Given the description of an element on the screen output the (x, y) to click on. 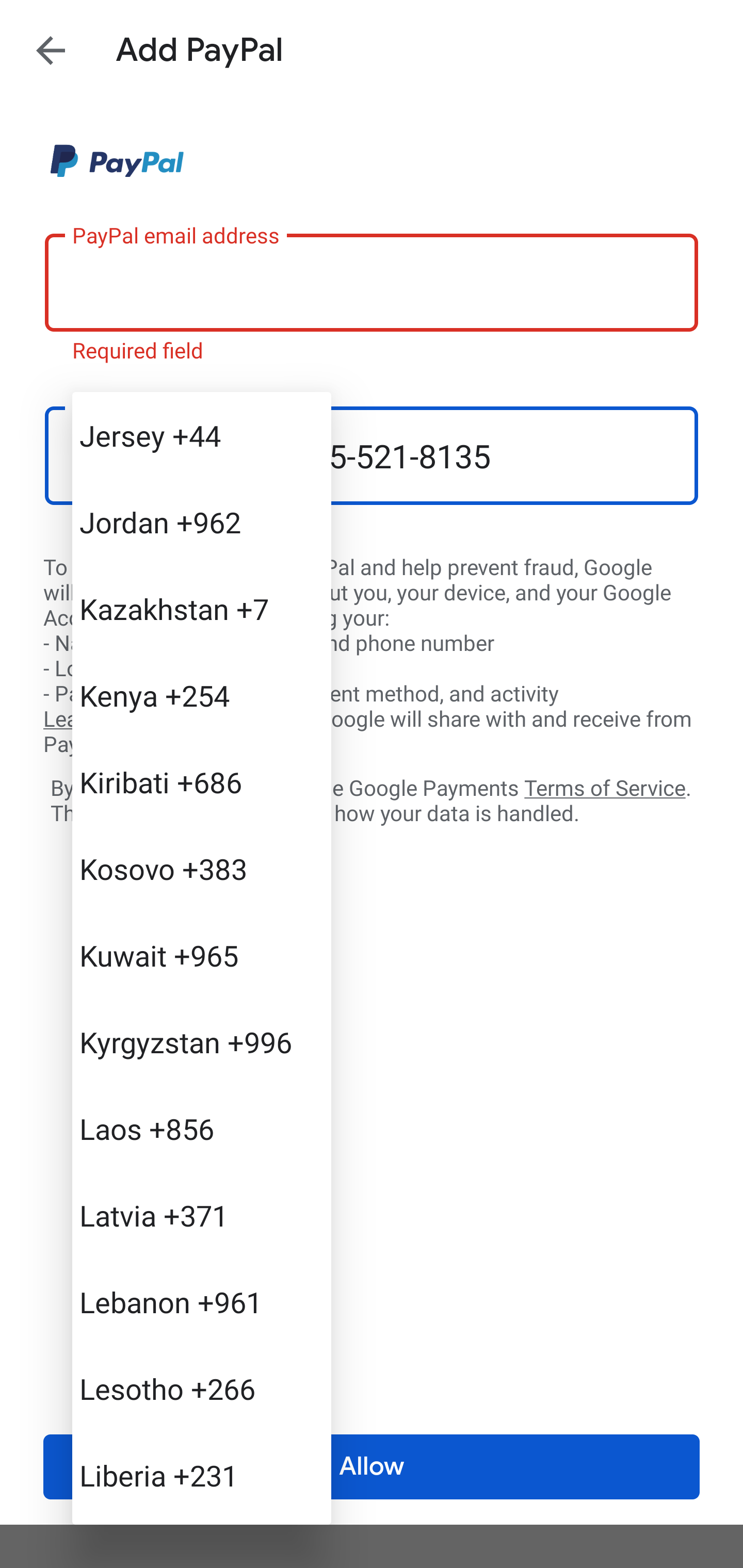
Jersey +44 (201, 435)
Jordan +962 (201, 522)
Kazakhstan +7 (201, 609)
Kenya +254 (201, 695)
Kiribati +686 (201, 781)
Kosovo +383 (201, 868)
Kuwait +965 (201, 955)
Kyrgyzstan +996 (201, 1041)
Laos +856 (201, 1128)
Latvia +371 (201, 1215)
Lebanon +961 (201, 1302)
Lesotho +266 (201, 1388)
Liberia +231 (201, 1474)
